Given the description of an element on the screen output the (x, y) to click on. 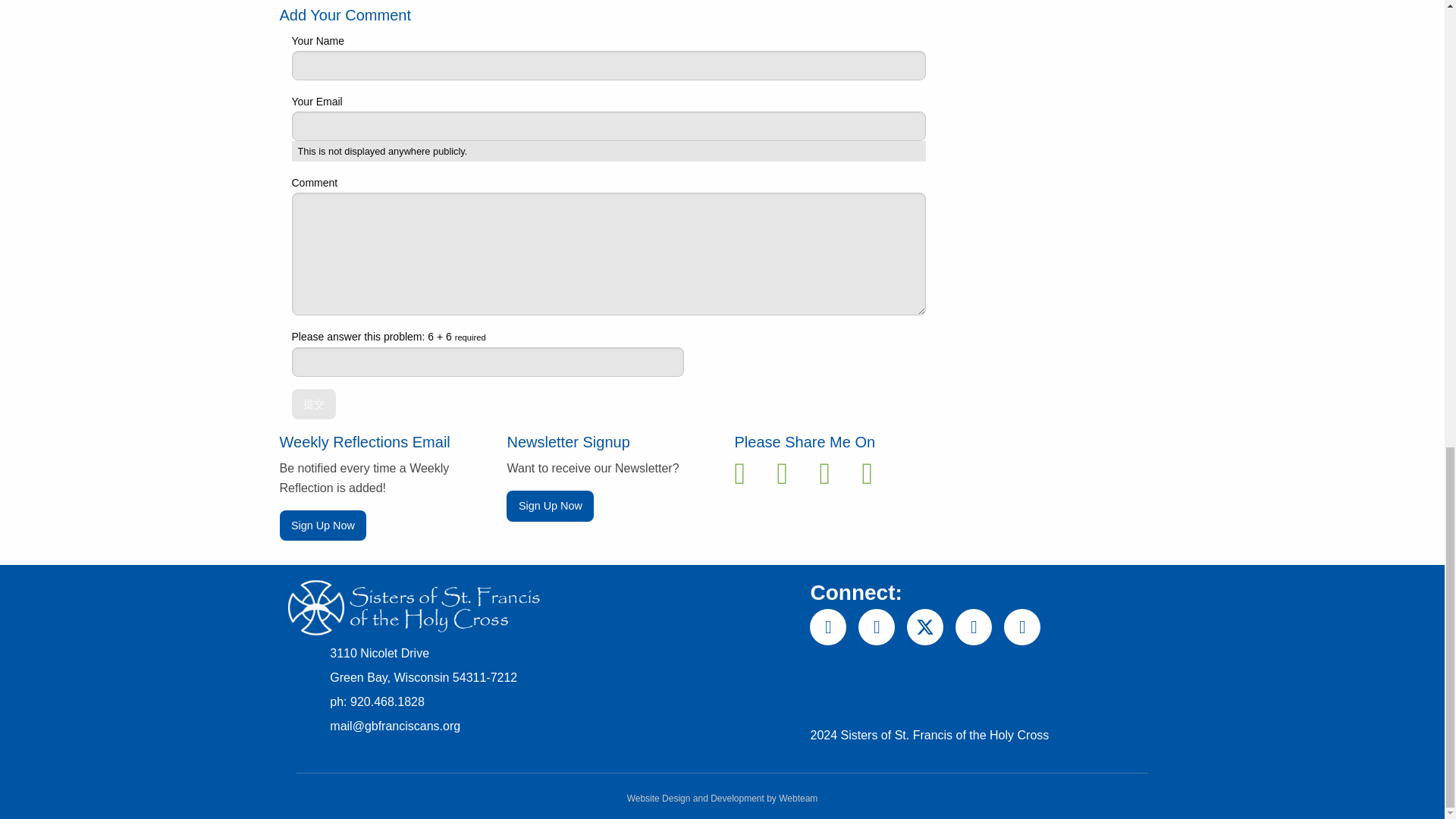
Green Bay Franciscans (411, 607)
